Given the description of an element on the screen output the (x, y) to click on. 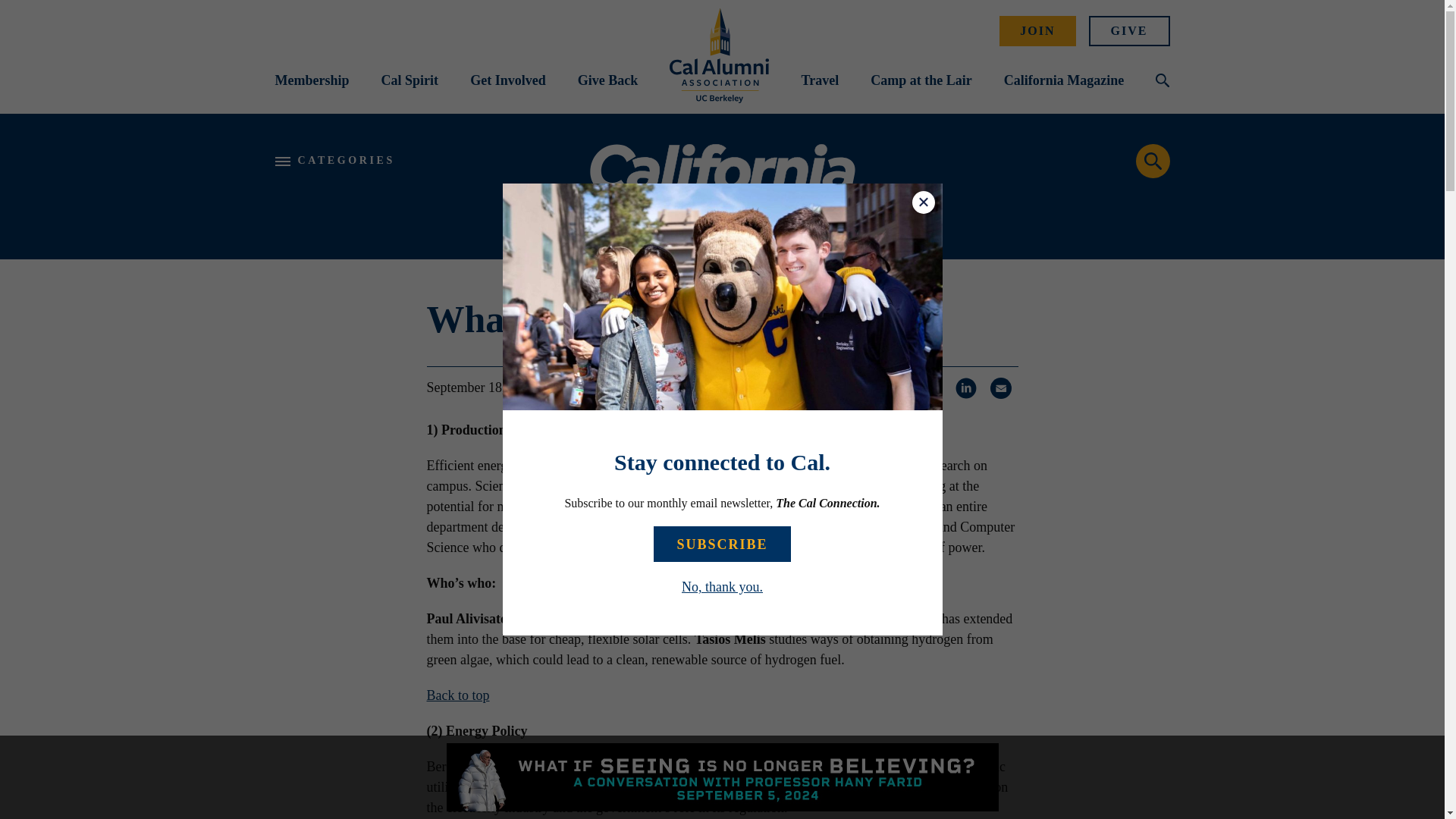
No, thank you. (721, 587)
Give Back (608, 79)
Cal Spirit (410, 79)
Camp at the Lair (921, 79)
Get Involved (508, 79)
GIVE (1129, 30)
Membership (312, 79)
California Magazine (1064, 79)
SUBSCRIBE (721, 543)
California Magazine Index (722, 186)
JOIN (1036, 30)
Travel (819, 79)
